Given the description of an element on the screen output the (x, y) to click on. 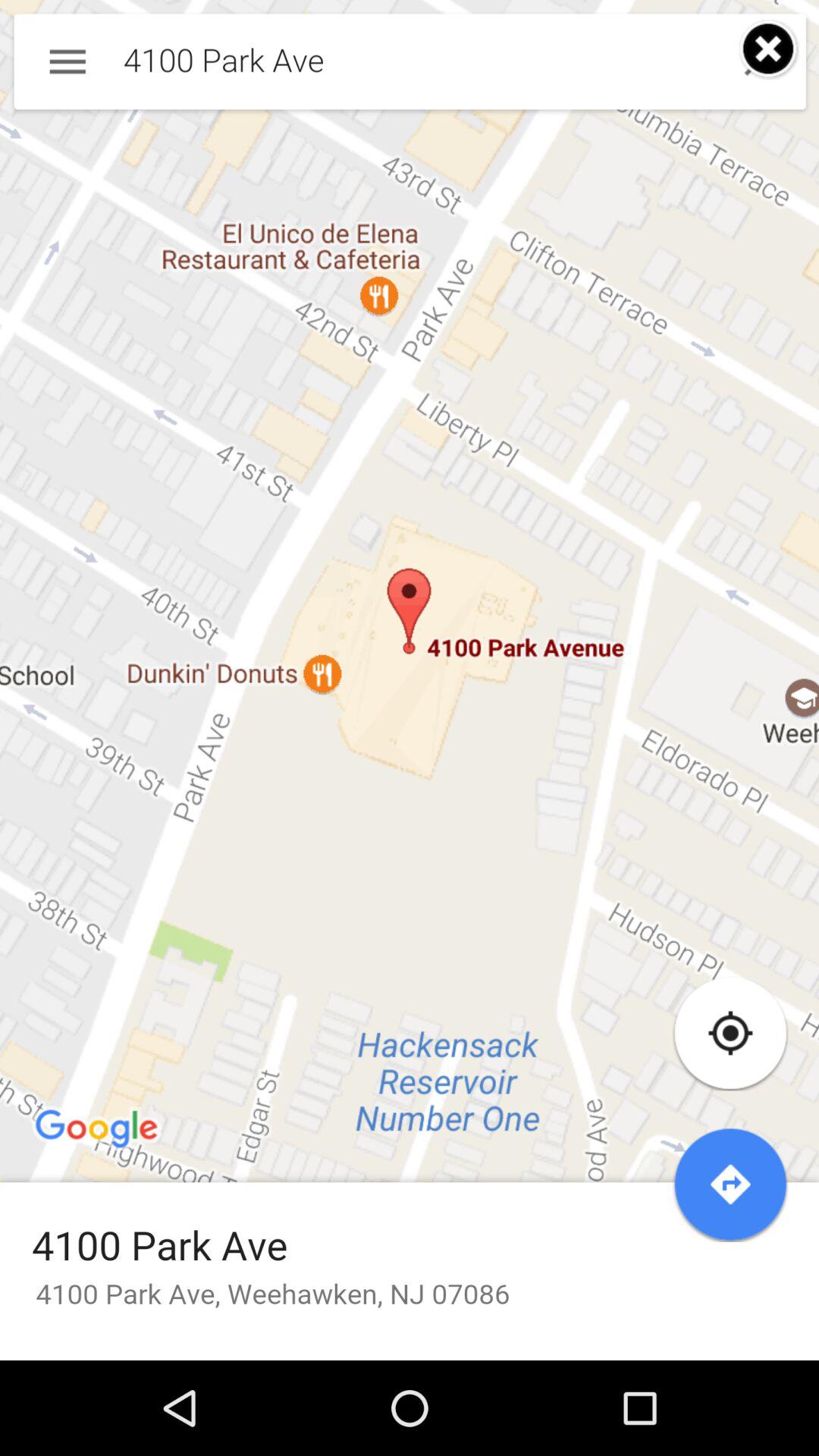
clear address (769, 49)
